Given the description of an element on the screen output the (x, y) to click on. 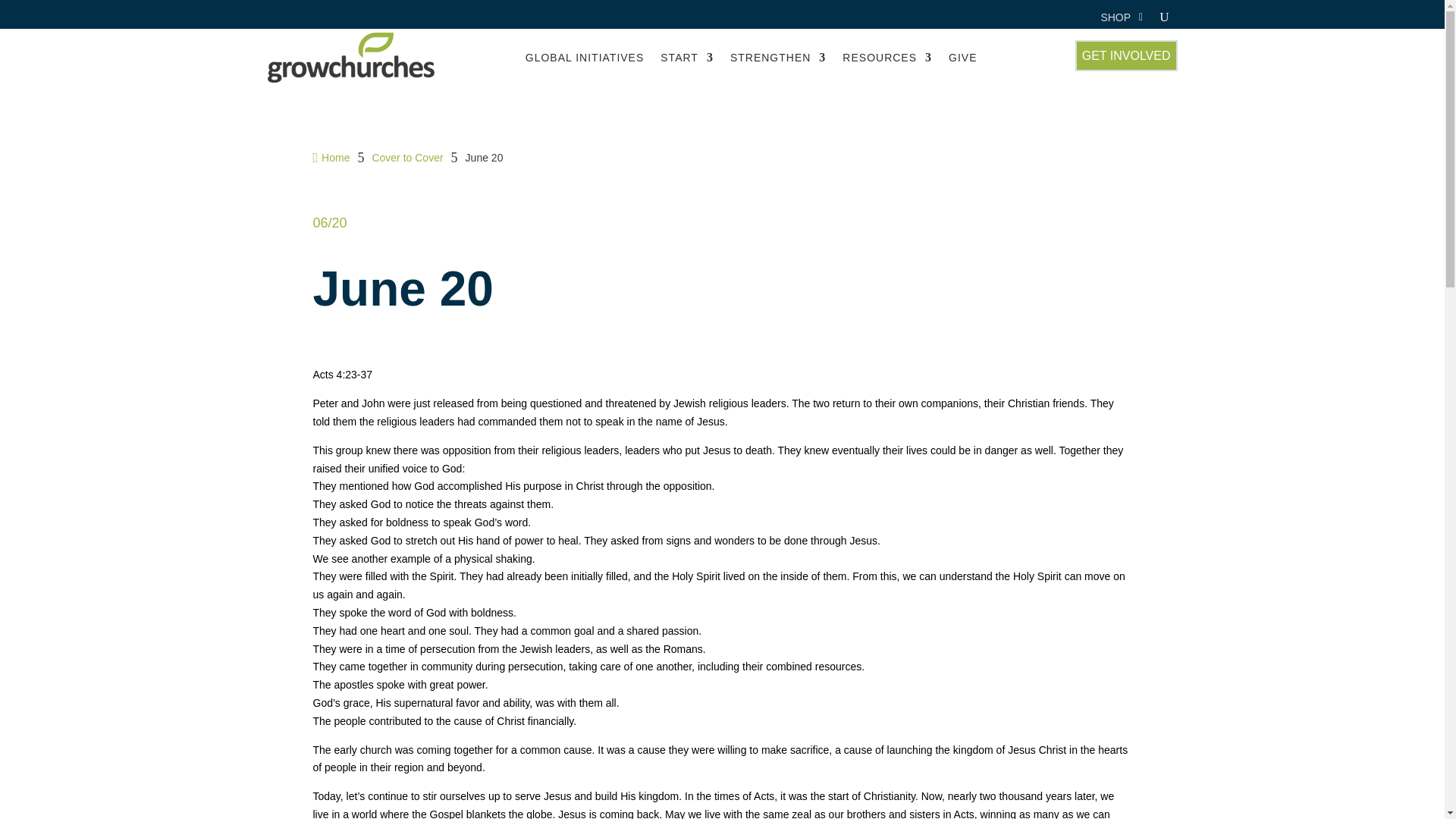
STRENGTHEN (777, 57)
Cover to Cover (406, 157)
GET INVOLVED (1126, 55)
RESOURCES (887, 57)
GLOBAL INITIATIVES (584, 57)
START (687, 57)
SHOP (1115, 20)
